Given the description of an element on the screen output the (x, y) to click on. 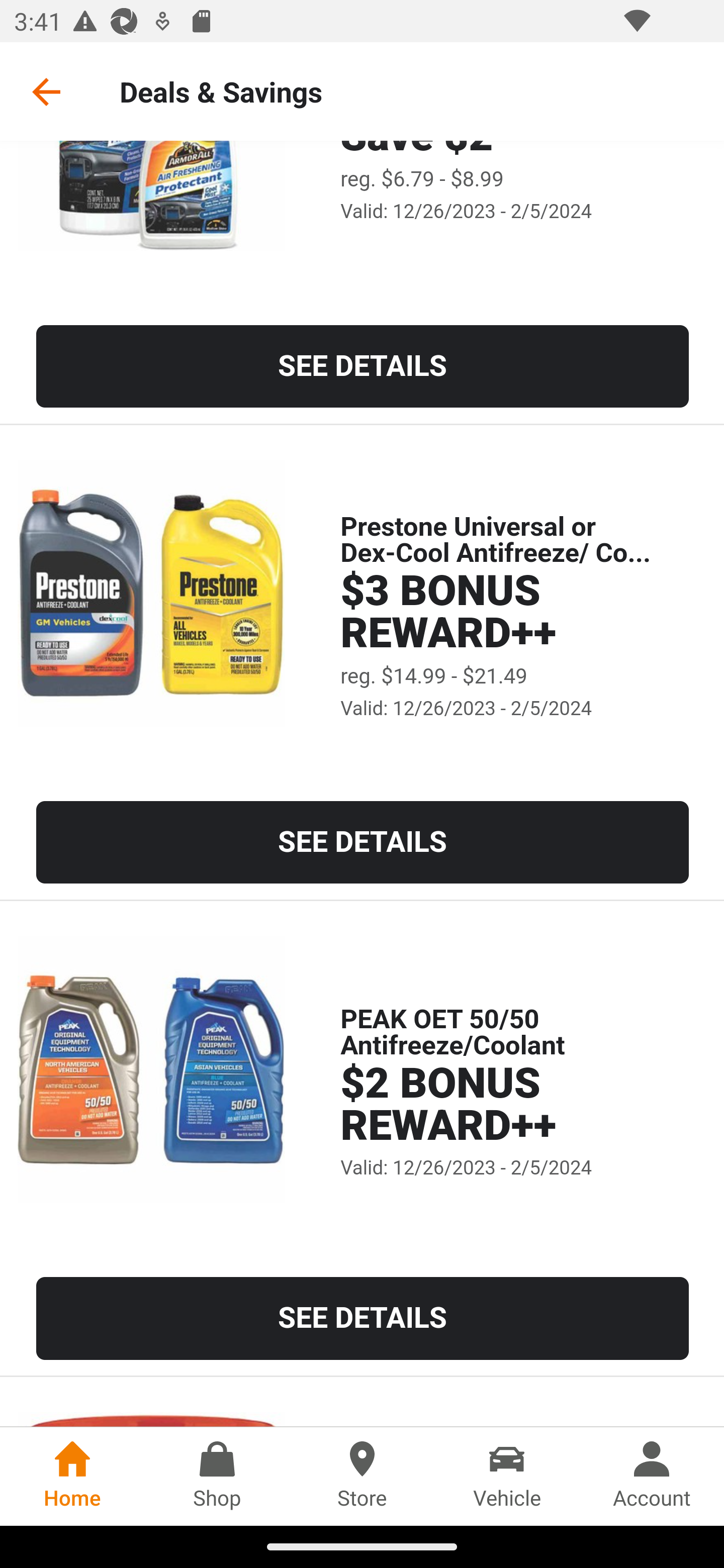
Go back (45, 91)
Home (72, 1475)
Shop (216, 1475)
Store (361, 1475)
Vehicle (506, 1475)
Account (651, 1475)
